Given the description of an element on the screen output the (x, y) to click on. 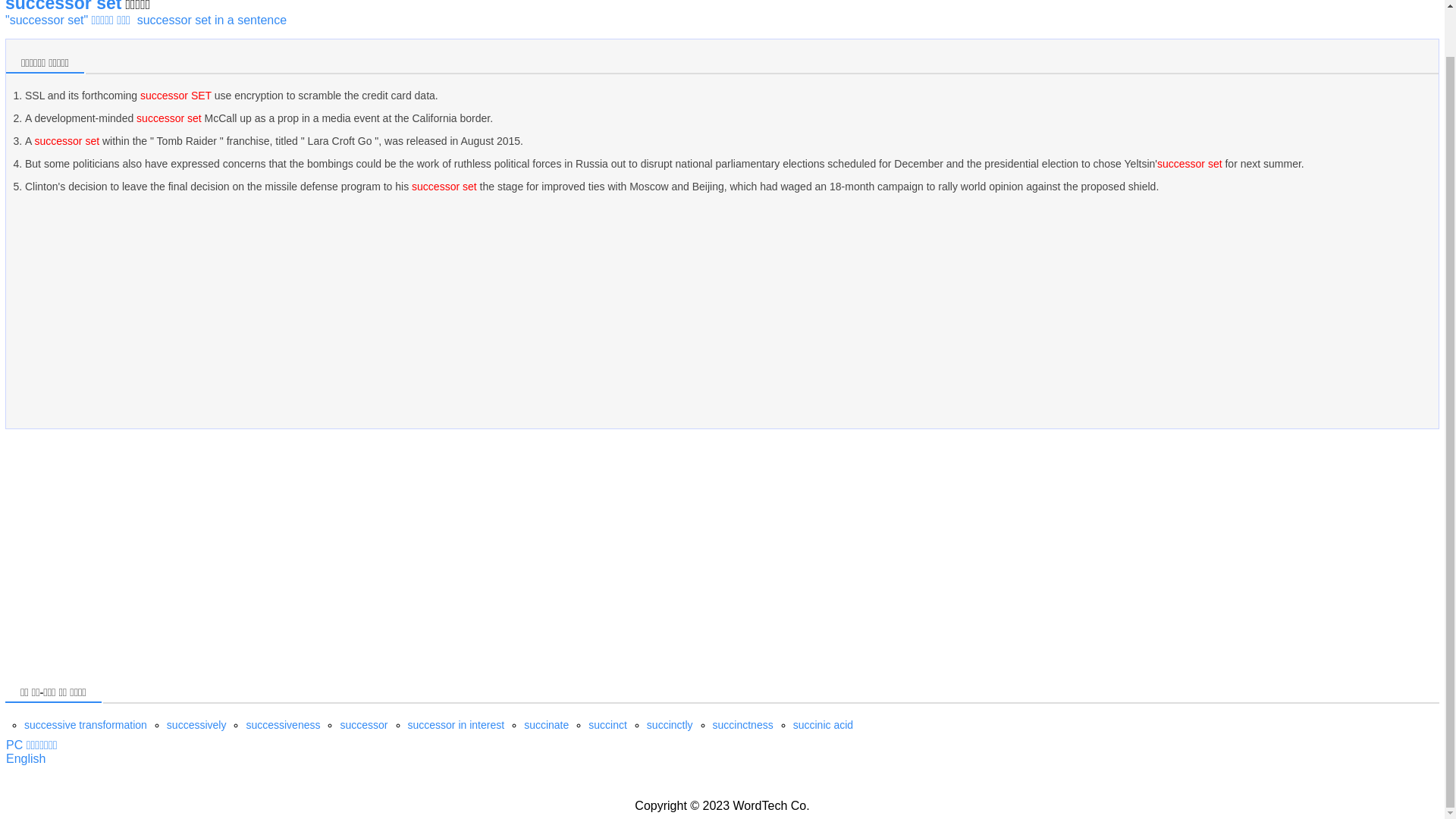
successor set in Hindi (25, 758)
successiveness (283, 725)
successor in interest (456, 725)
succinic acid (823, 725)
successively (197, 725)
successor set in a sentence (211, 19)
successor (363, 725)
succinate (546, 725)
succinctness (743, 725)
succinct (607, 725)
